Given the description of an element on the screen output the (x, y) to click on. 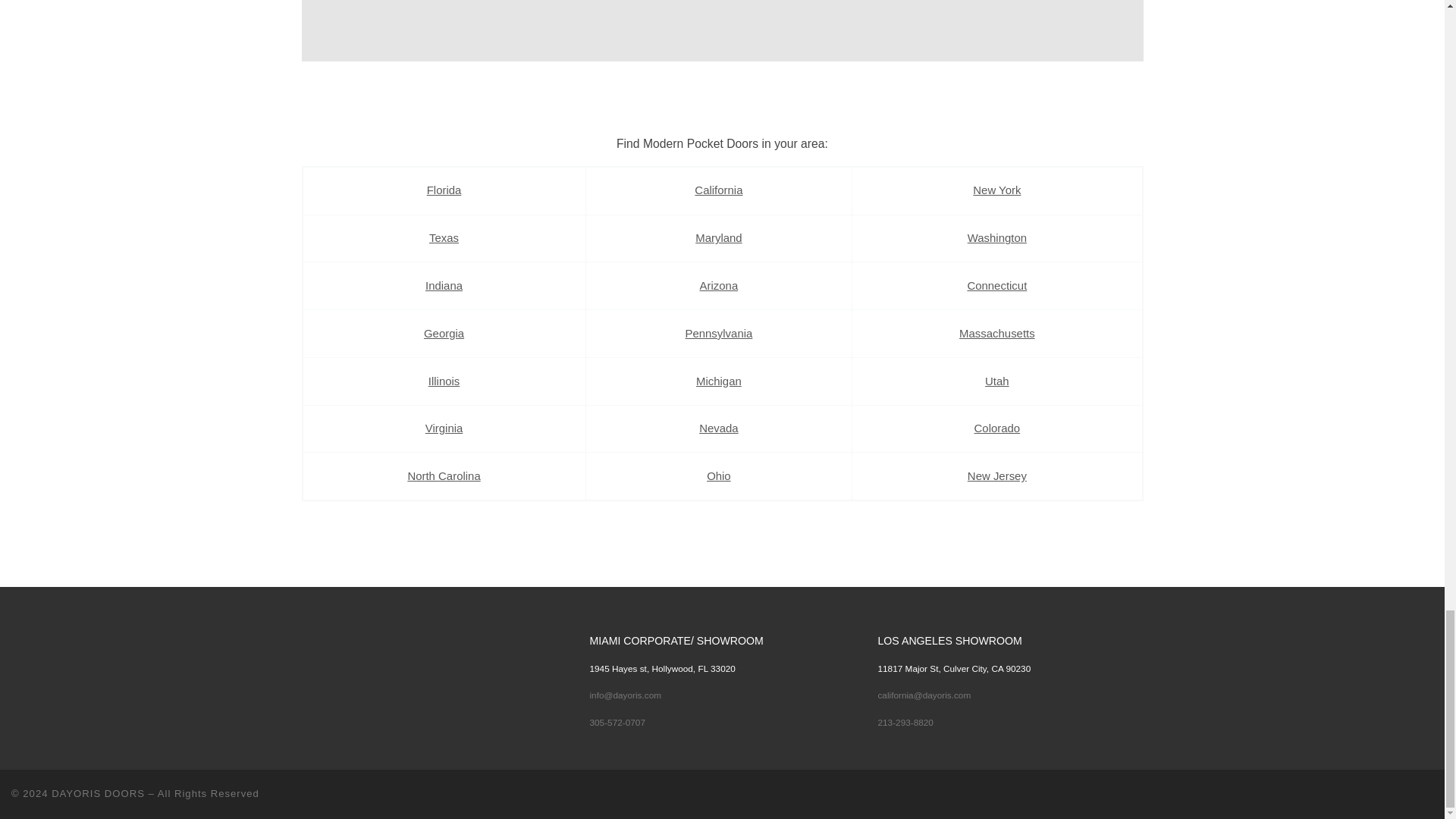
DAYORIS DOORS (97, 793)
